Given the description of an element on the screen output the (x, y) to click on. 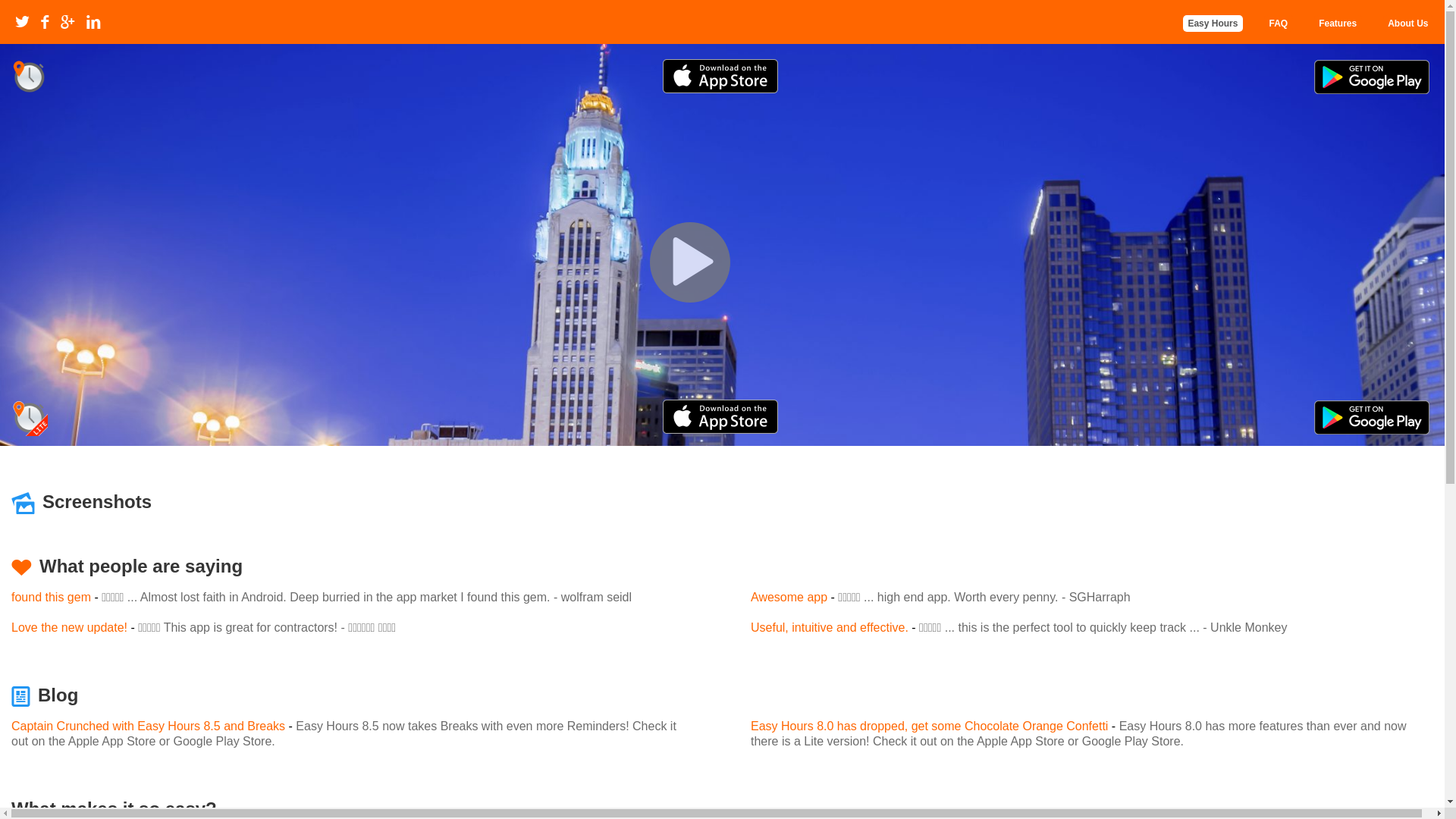
About Us Element type: text (1407, 23)
Captain Crunched with Easy Hours 8.5 and Breaks Element type: text (148, 725)
found this gem Element type: text (51, 596)
Useful, intuitive and effective. Element type: text (829, 627)
Love the new update! Element type: text (69, 627)
FAQ Element type: text (1277, 23)
Easy Hours Element type: text (1212, 23)
Awesome app Element type: text (788, 596)
Features Element type: text (1337, 23)
